Given the description of an element on the screen output the (x, y) to click on. 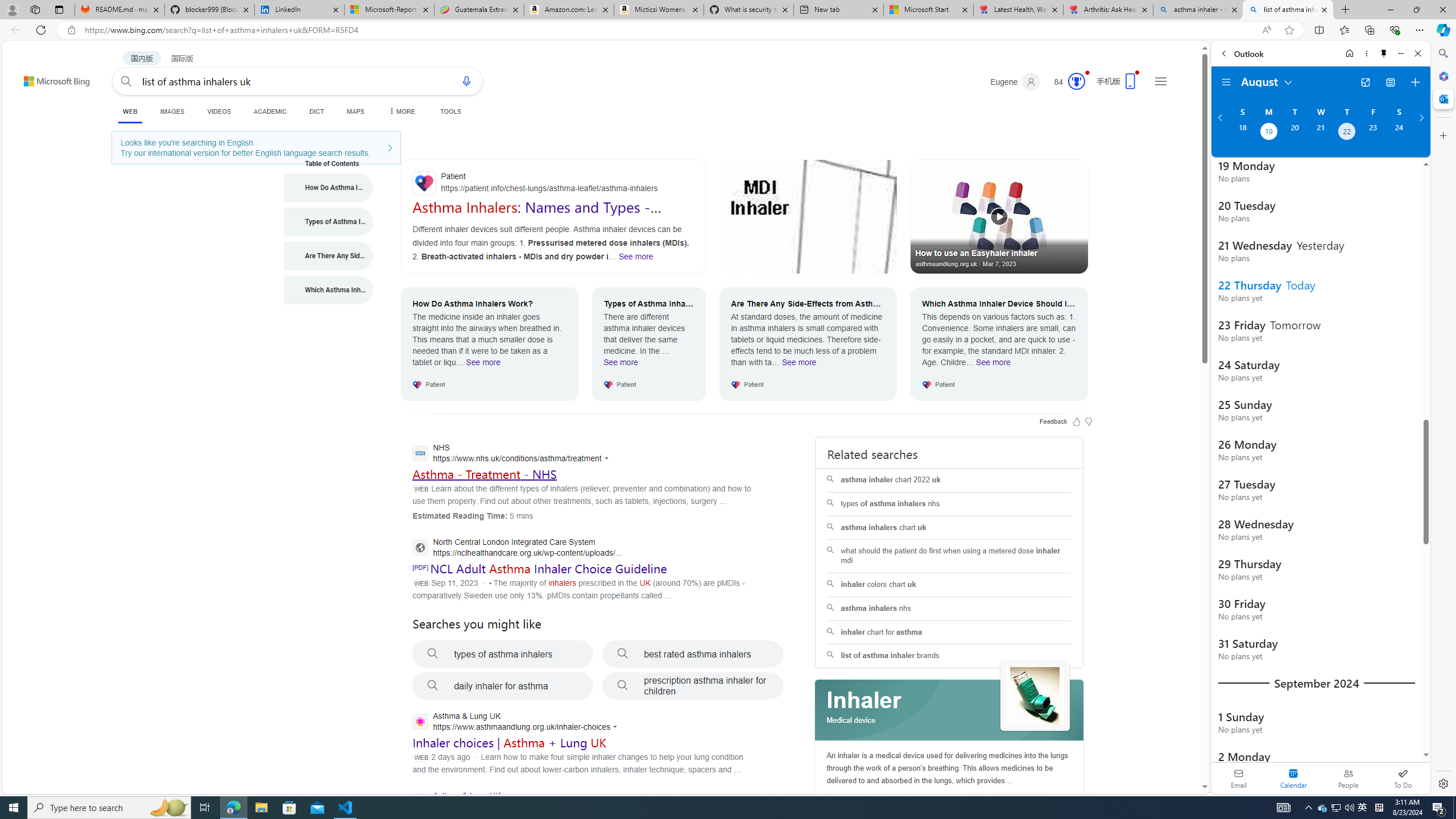
Estimated Reading Time: 5 mins (472, 515)
DICT (316, 111)
Asthma Inhalers: Names and Types - Patient (536, 214)
Sunday, August 18, 2024.  (1242, 132)
AutomationID: mfa_root (1161, 752)
prescription asthma inhaler for children (692, 685)
